Given the description of an element on the screen output the (x, y) to click on. 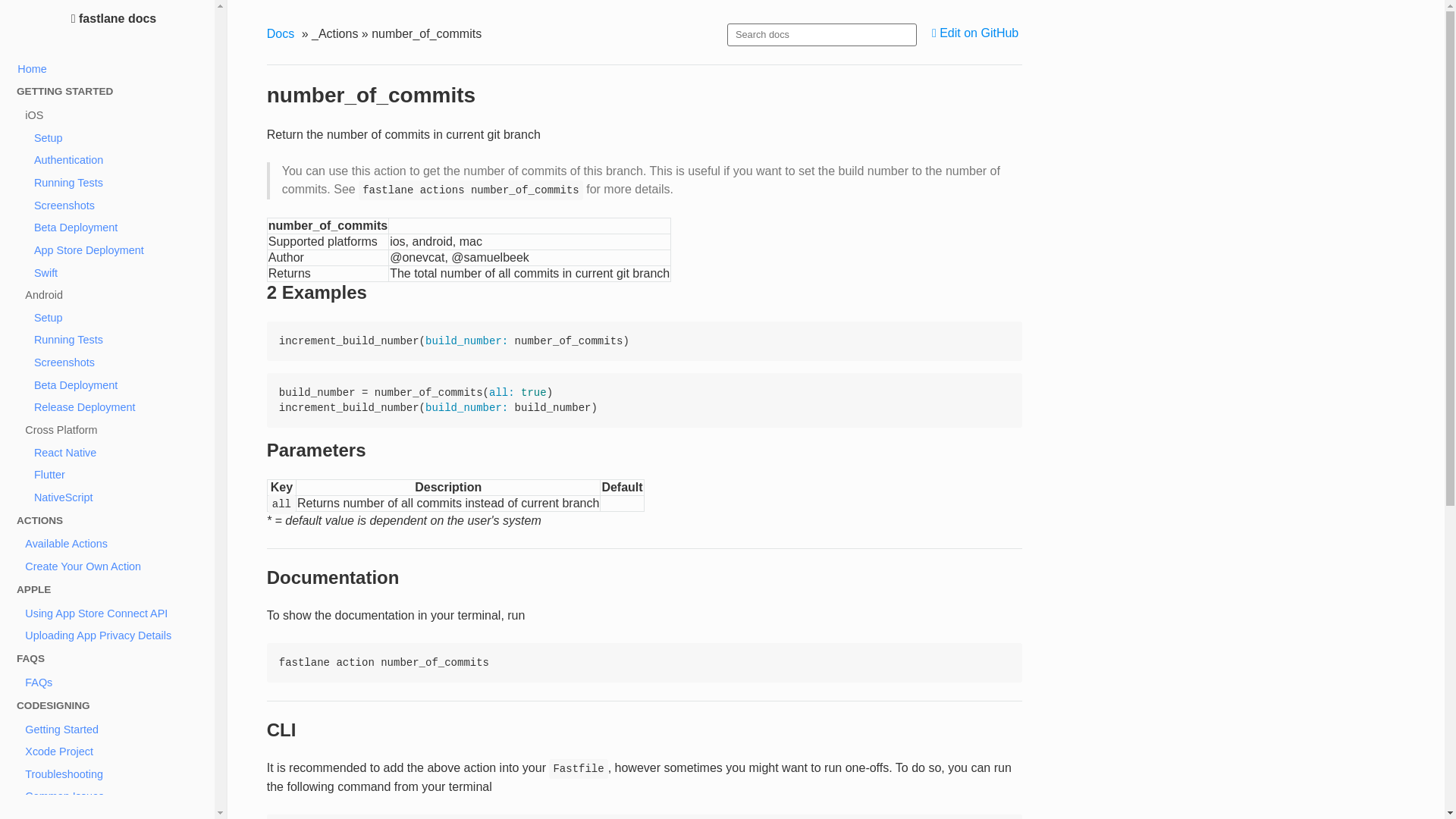
Home (113, 68)
Beta Deployment (117, 384)
Common Issues (117, 796)
React Native (117, 452)
Troubleshooting (117, 773)
App Store Deployment (117, 250)
Create Your Own Action (117, 566)
Using App Store Connect API (117, 612)
Setup (117, 317)
Running Tests (117, 340)
Swift (117, 272)
Release Deployment (117, 406)
Getting Started (117, 729)
NativeScript (117, 497)
Uploading App Privacy Details (117, 635)
